Given the description of an element on the screen output the (x, y) to click on. 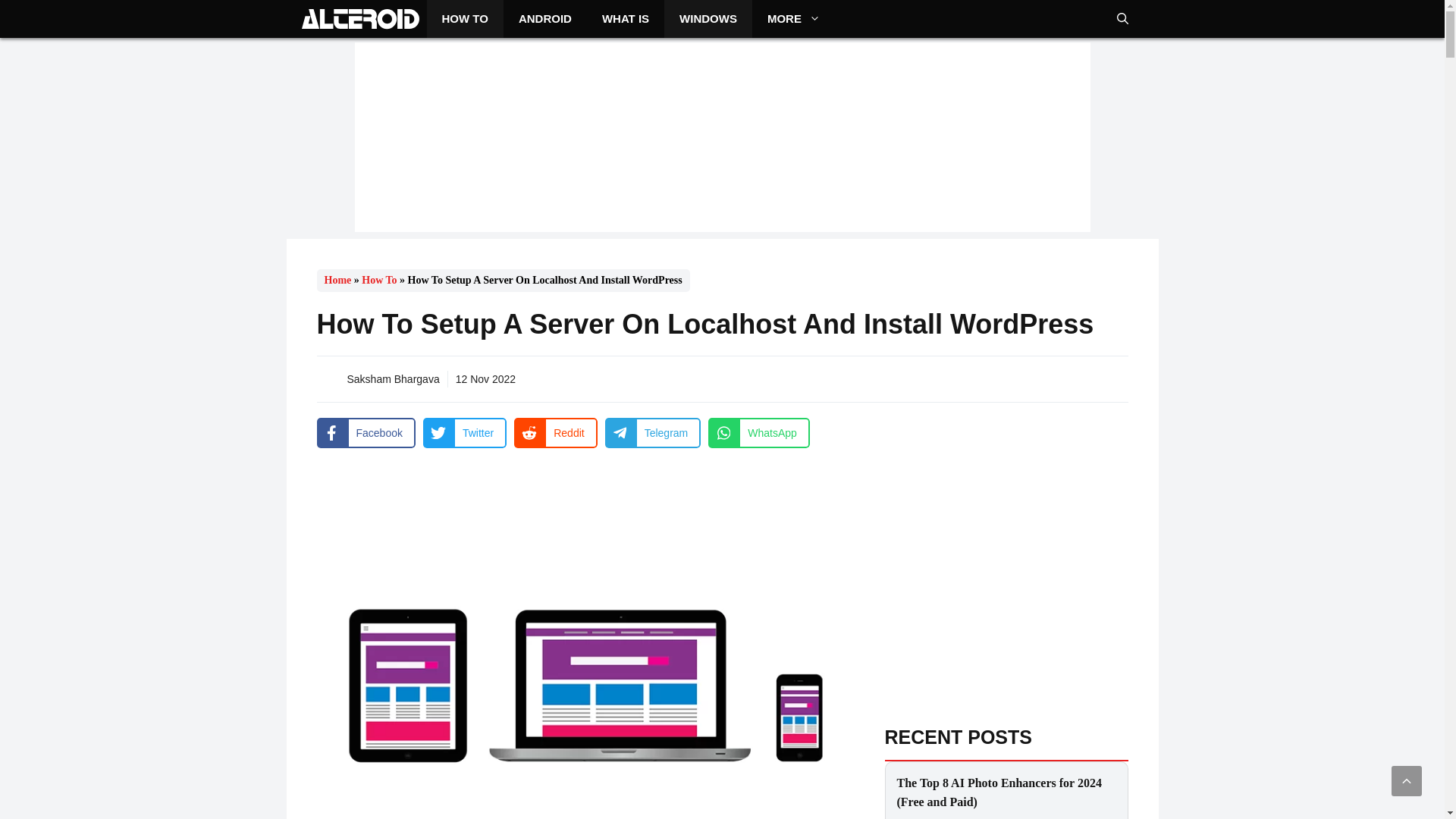
WHAT IS (624, 18)
Reddit (554, 432)
Home (338, 279)
Alteroid (360, 18)
Twitter (464, 432)
WINDOWS (707, 18)
HOW TO (464, 18)
Facebook (365, 432)
MORE (793, 18)
Scroll back to top (1406, 780)
How To (378, 279)
Telegram (653, 432)
WhatsApp (758, 432)
Saksham Bhargava (393, 378)
ANDROID (544, 18)
